Given the description of an element on the screen output the (x, y) to click on. 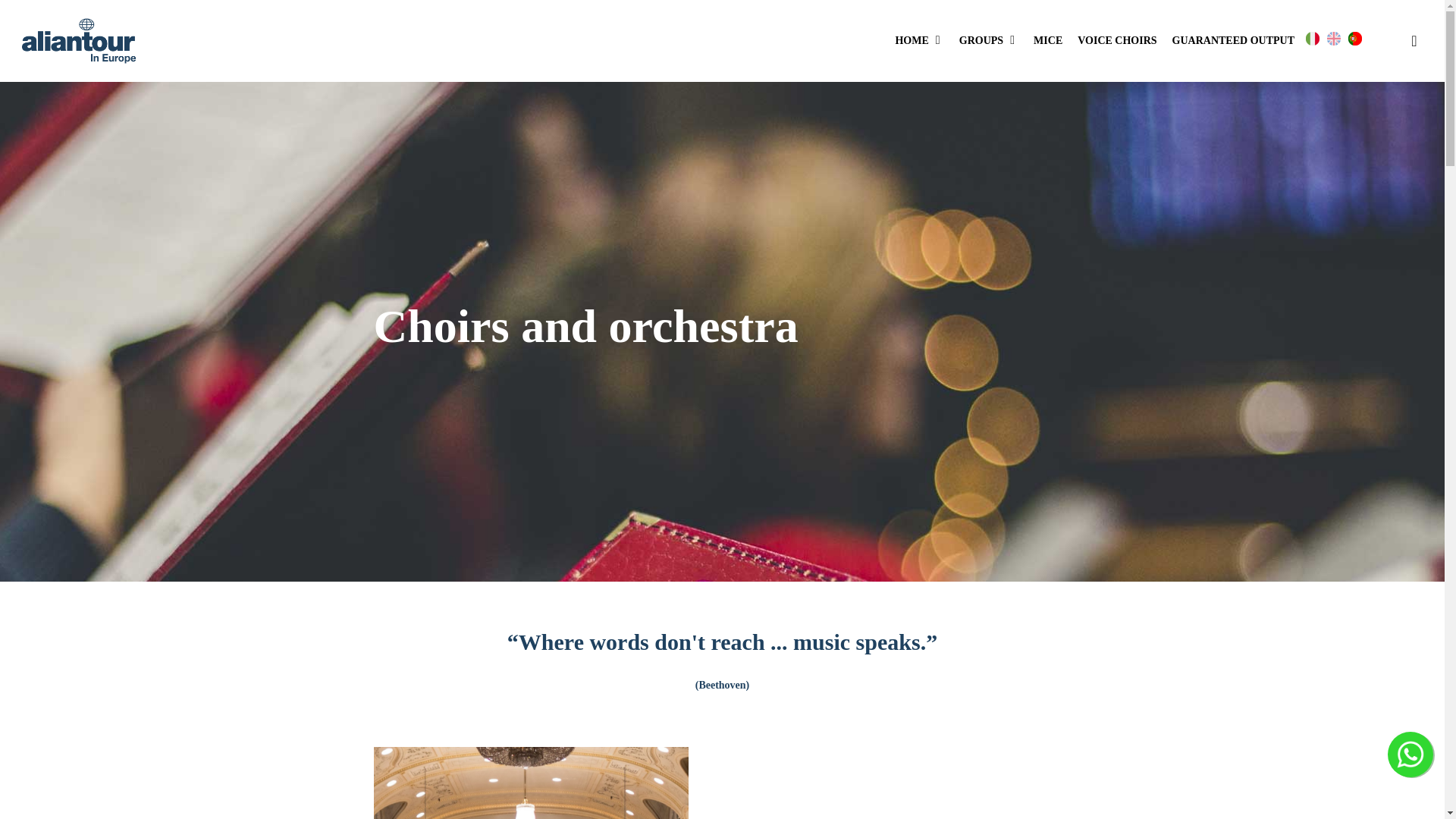
GUARANTEED OUTPUT (1233, 40)
MICE (1047, 40)
GROUPS (988, 40)
VOICE CHOIRS (1116, 40)
account (1414, 41)
HOME (919, 40)
